Given the description of an element on the screen output the (x, y) to click on. 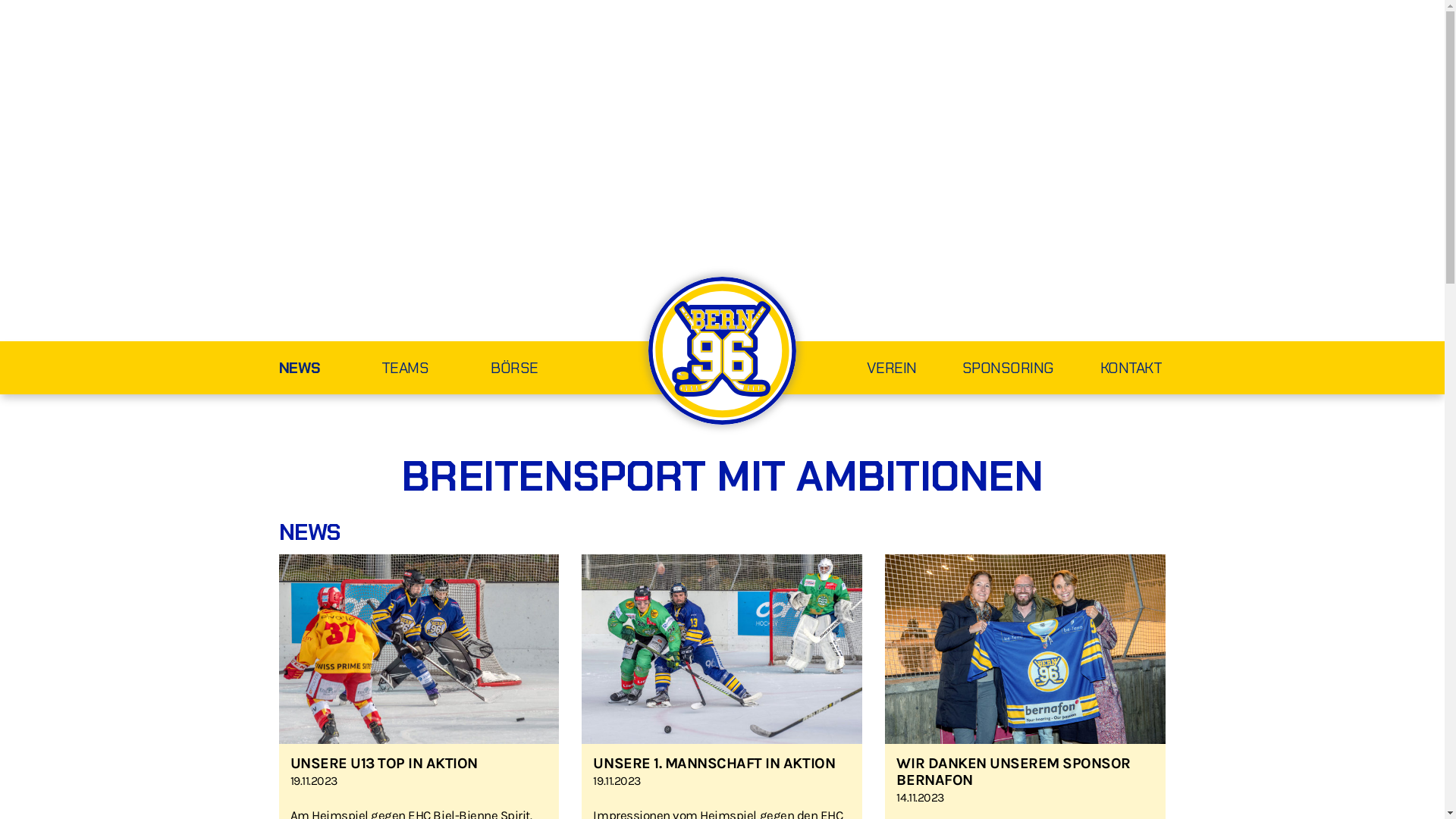
SPONSORING Element type: text (985, 369)
NEWS Element type: text (330, 369)
UNSERE 1. MANNSCHAFT IN AKTION Element type: text (713, 762)
TEAMS Element type: text (436, 369)
WIR DANKEN UNSEREM SPONSOR BERNAFON Element type: text (1013, 771)
KONTAKT Element type: text (1110, 369)
VEREIN Element type: text (868, 369)
UNSERE U13 TOP IN AKTION Element type: text (382, 762)
